Given the description of an element on the screen output the (x, y) to click on. 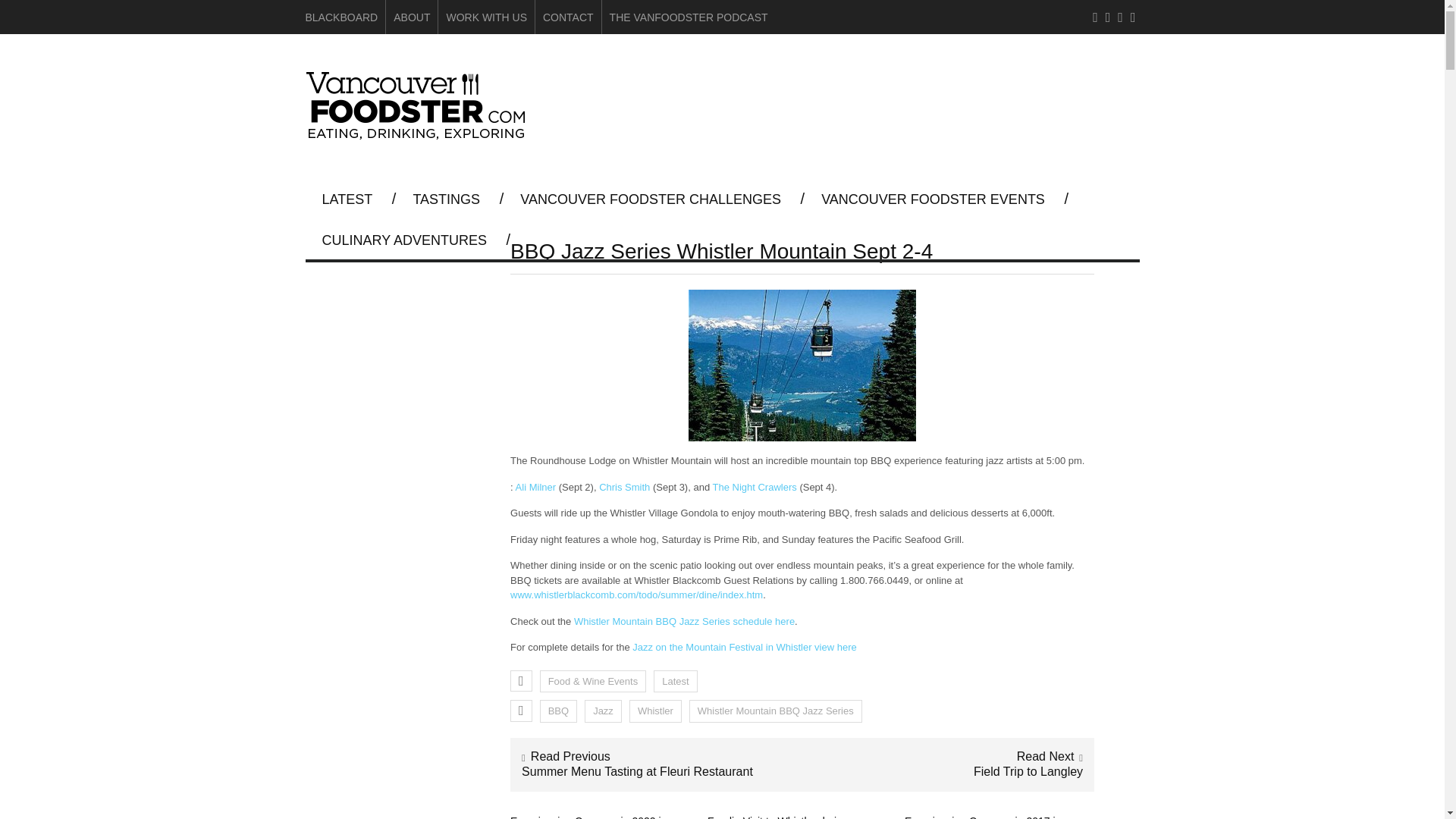
whistler-gondola (801, 365)
Vancouver Foodster (418, 132)
Experiencing Cornucopia 2022 in Whistler (588, 816)
VANCOUVER FOODSTER CHALLENGES (650, 199)
The Night Crawlers (754, 487)
TASTINGS (445, 199)
Jazz (603, 711)
Experiencing Cornucopia 2017 in Whistler (982, 816)
Latest (675, 681)
Whistler Mountain BBQ Jazz Series (774, 711)
